Given the description of an element on the screen output the (x, y) to click on. 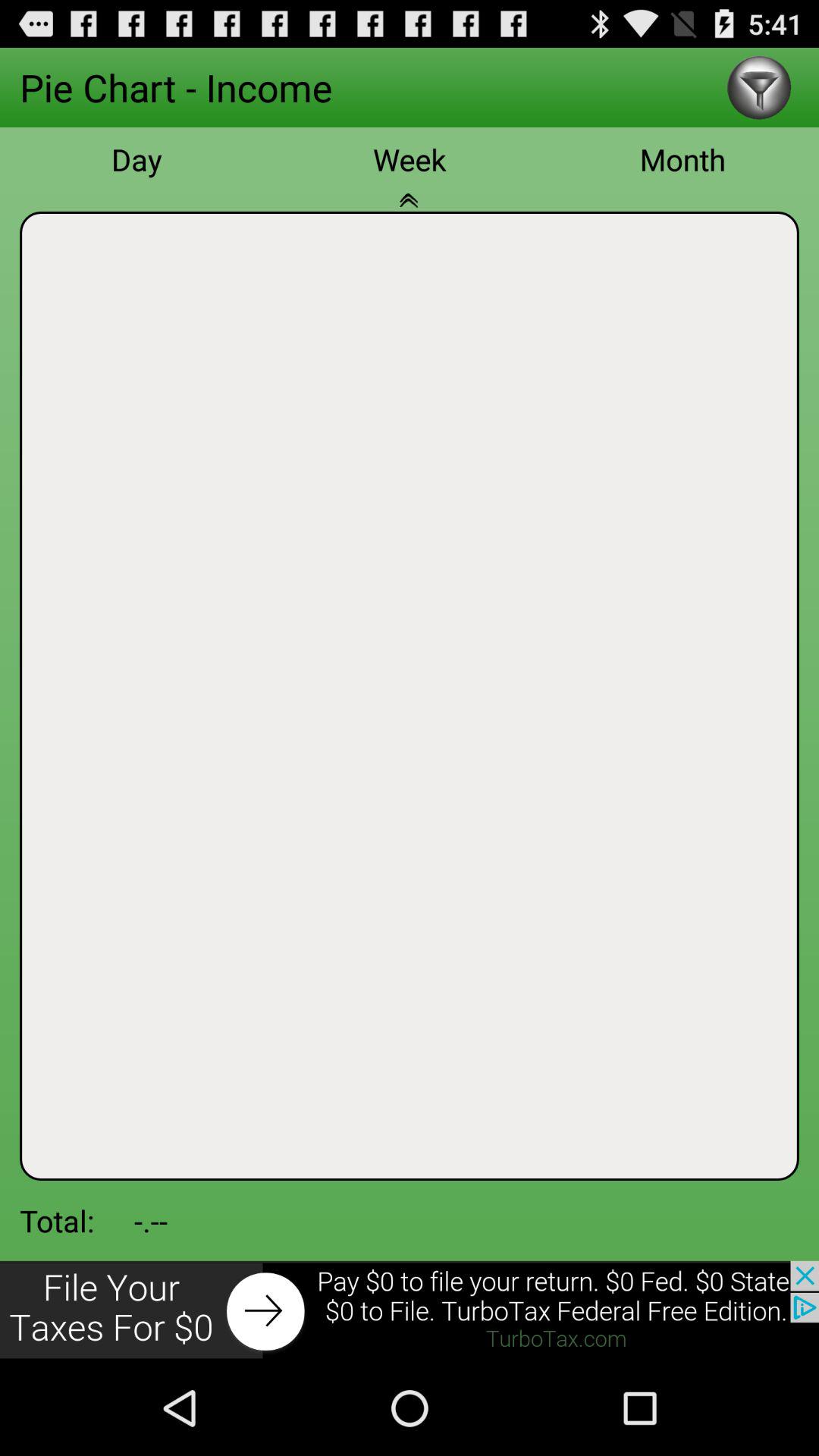
minimize current chart (409, 209)
